Given the description of an element on the screen output the (x, y) to click on. 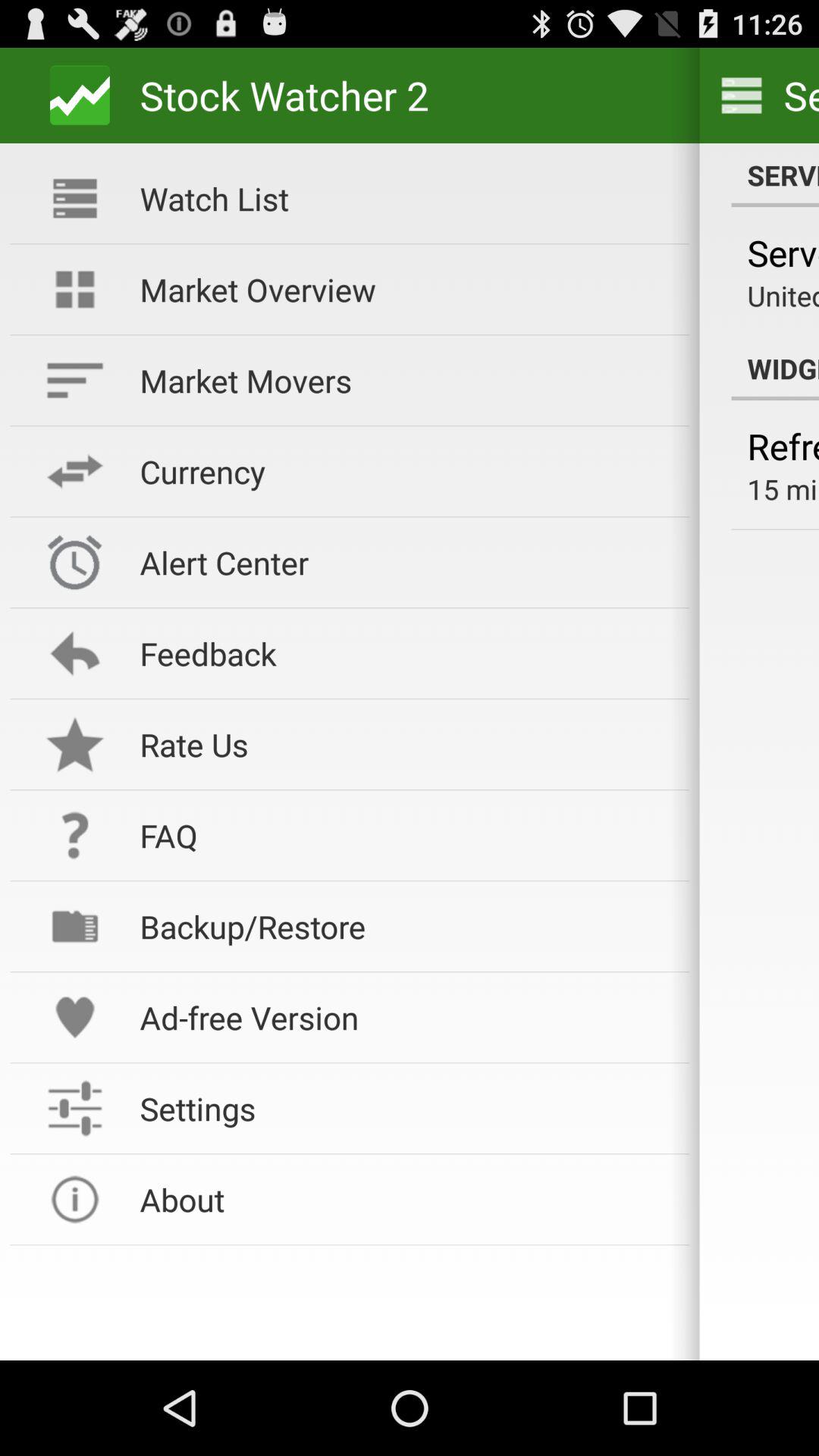
scroll until feedback app (404, 653)
